Given the description of an element on the screen output the (x, y) to click on. 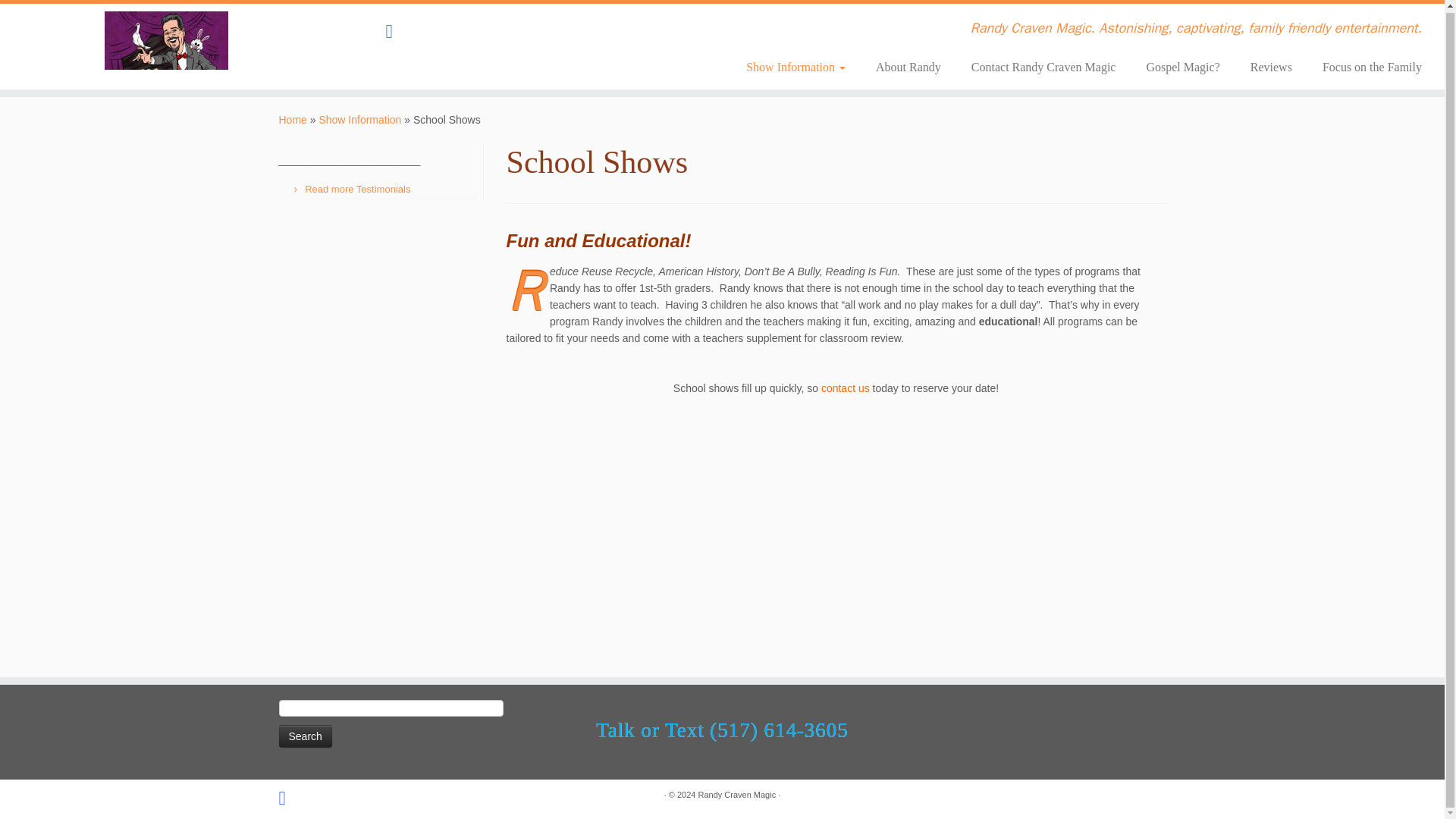
Reviews (1270, 65)
contact us (845, 387)
Randy Craven Magic (736, 795)
Home (293, 119)
Randy Craven Magic (736, 795)
Focus on the Family (1364, 65)
Show Information (359, 119)
Contact Randy Craven Magic (1043, 65)
Search (305, 735)
Show Information (795, 65)
